Given the description of an element on the screen output the (x, y) to click on. 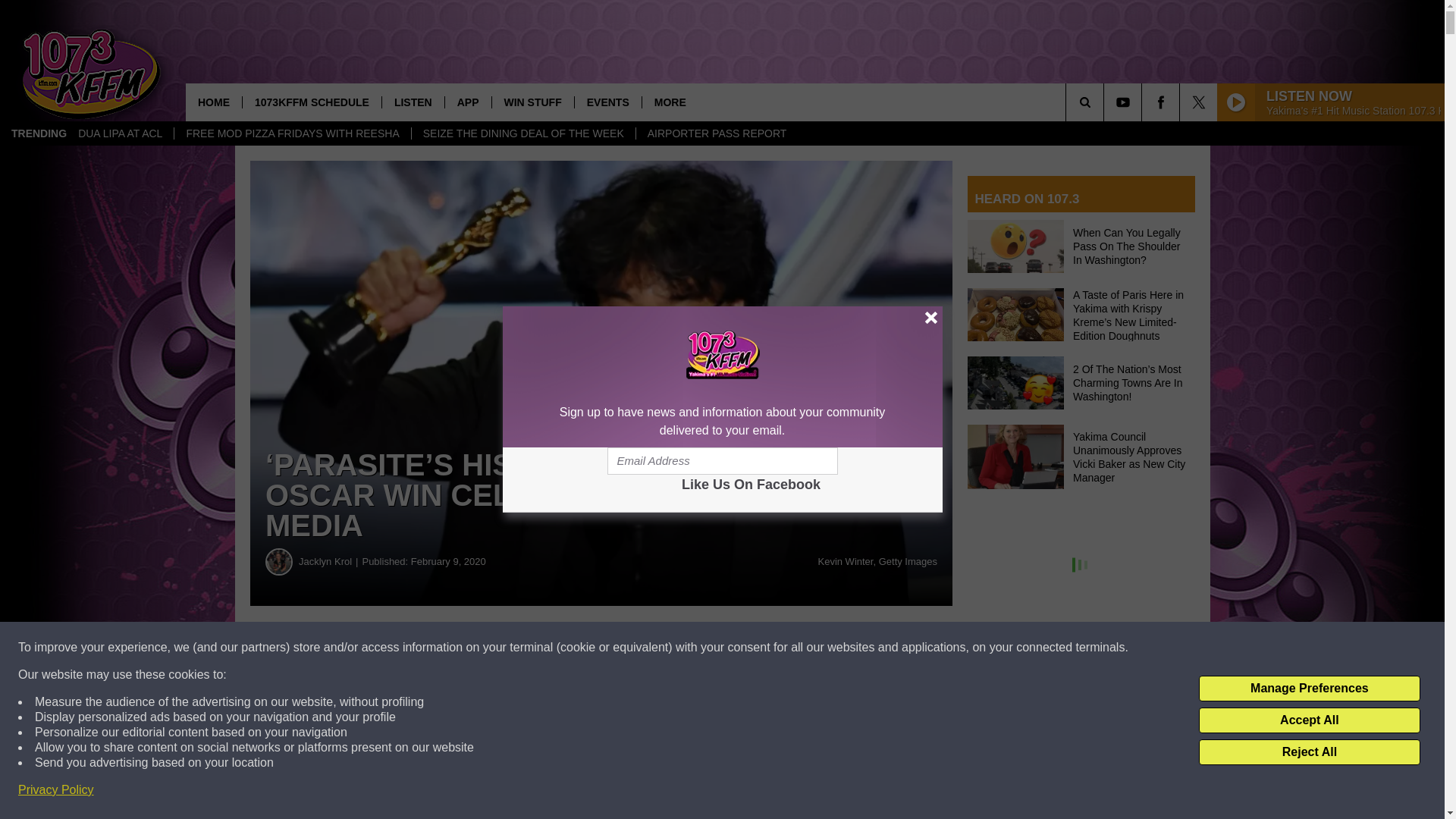
AIRPORTER PASS REPORT (715, 133)
EVENTS (607, 102)
SEARCH (1106, 102)
HOME (213, 102)
Reject All (1309, 751)
LISTEN (412, 102)
SEIZE THE DINING DEAL OF THE WEEK (522, 133)
1073KFFM SCHEDULE (311, 102)
Privacy Policy (55, 789)
Accept All (1309, 720)
Share on Twitter (741, 647)
WIN STUFF (532, 102)
APP (468, 102)
DUA LIPA AT ACL (119, 133)
SEARCH (1106, 102)
